Given the description of an element on the screen output the (x, y) to click on. 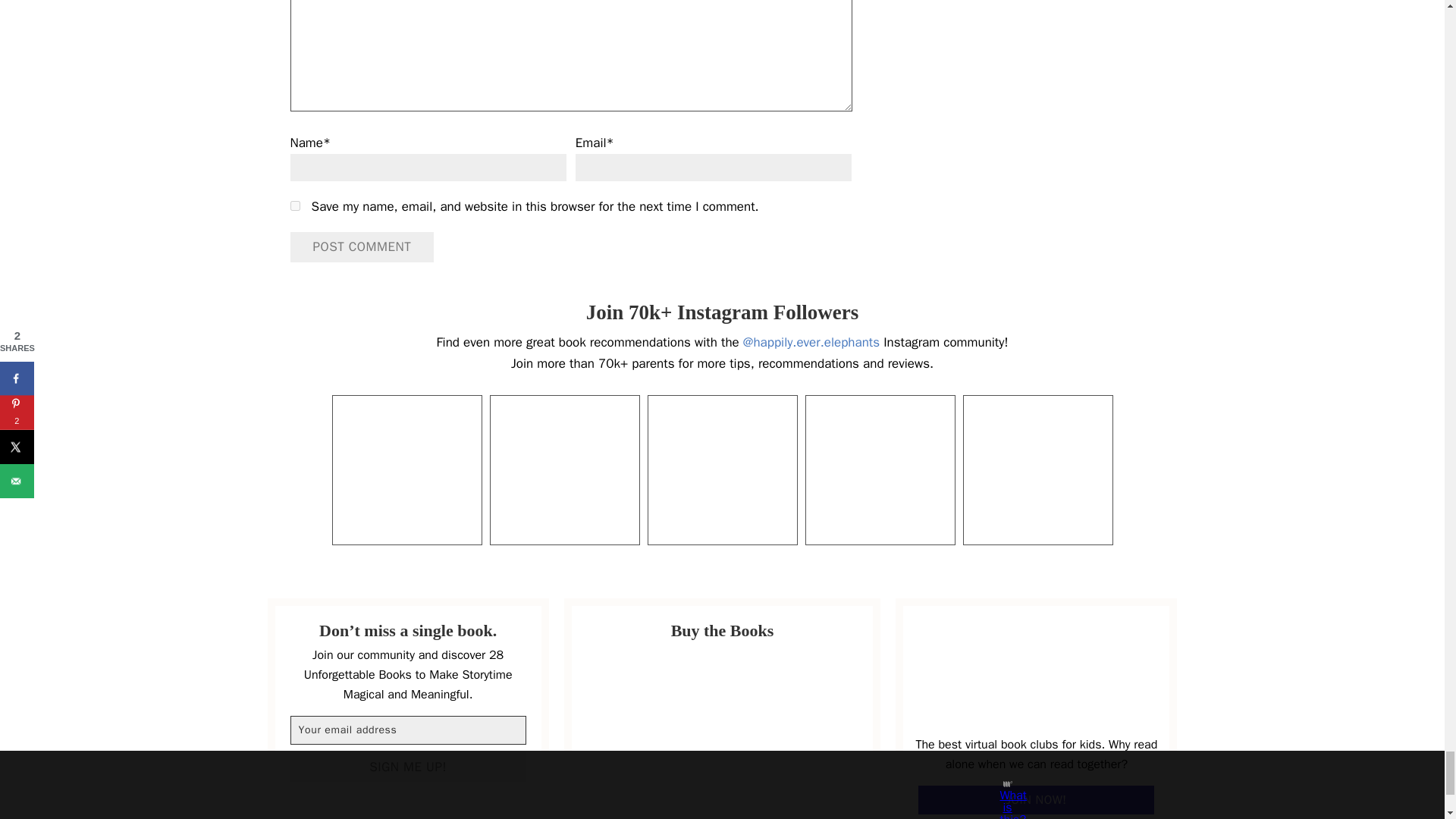
yes (294, 205)
Post Comment (361, 246)
